Given the description of an element on the screen output the (x, y) to click on. 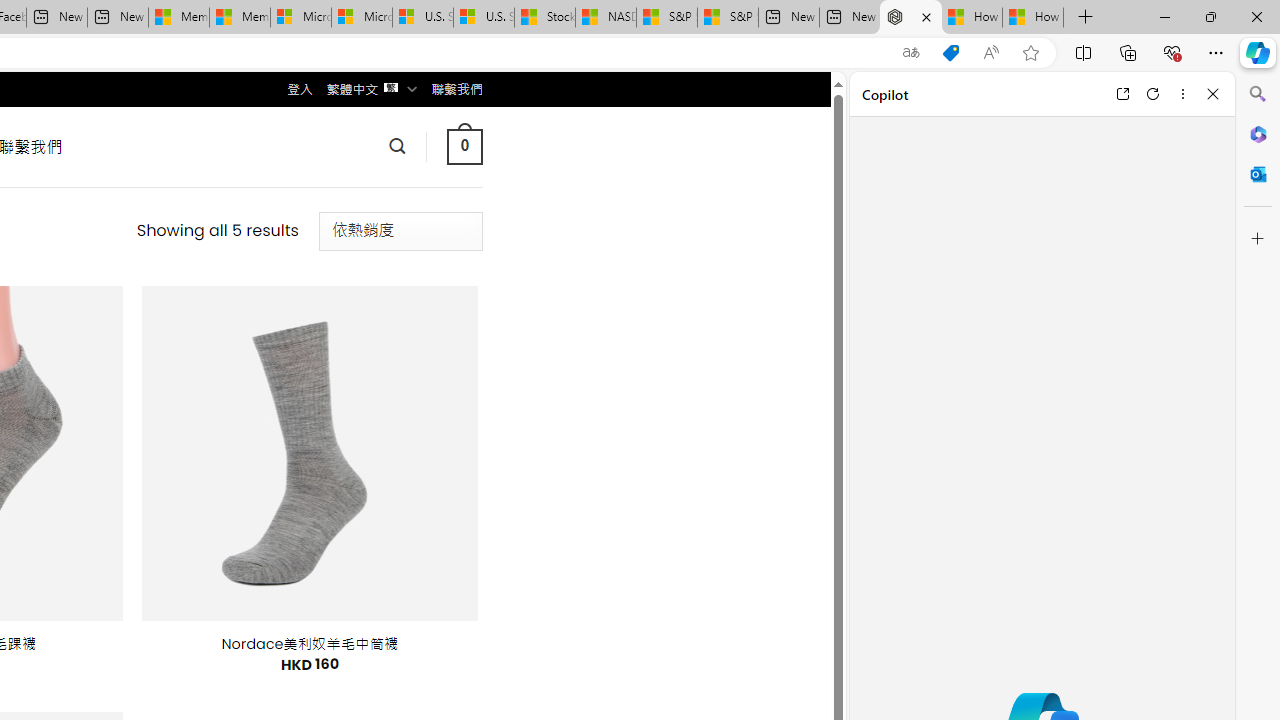
S&P 500, Nasdaq end lower, weighed by Nvidia dip | Watch (727, 17)
Outlook (1258, 174)
This site has coupons! Shopping in Microsoft Edge (950, 53)
